Given the description of an element on the screen output the (x, y) to click on. 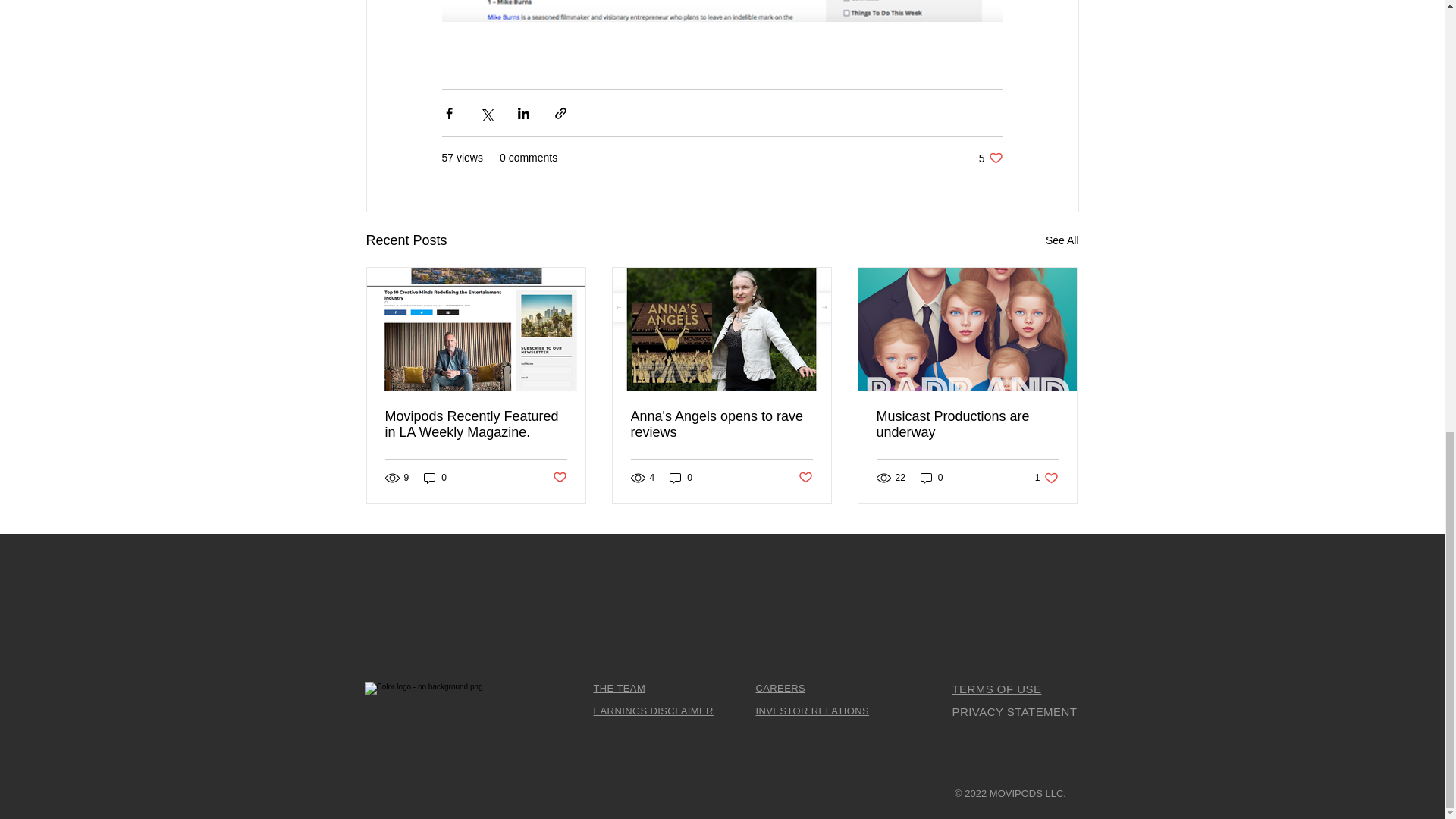
Post not marked as liked (558, 478)
INVESTOR RELATIONS (812, 710)
THE TEAM (990, 157)
0 (618, 687)
0 (1046, 477)
Post not marked as liked (681, 477)
See All (931, 477)
Anna's Angels opens to rave reviews (804, 478)
0 (1061, 240)
CAREERS (721, 424)
TERMS OF USE (435, 477)
EARNINGS DISCLAIMER (780, 687)
PRIVACY STATEMENT (997, 688)
